Given the description of an element on the screen output the (x, y) to click on. 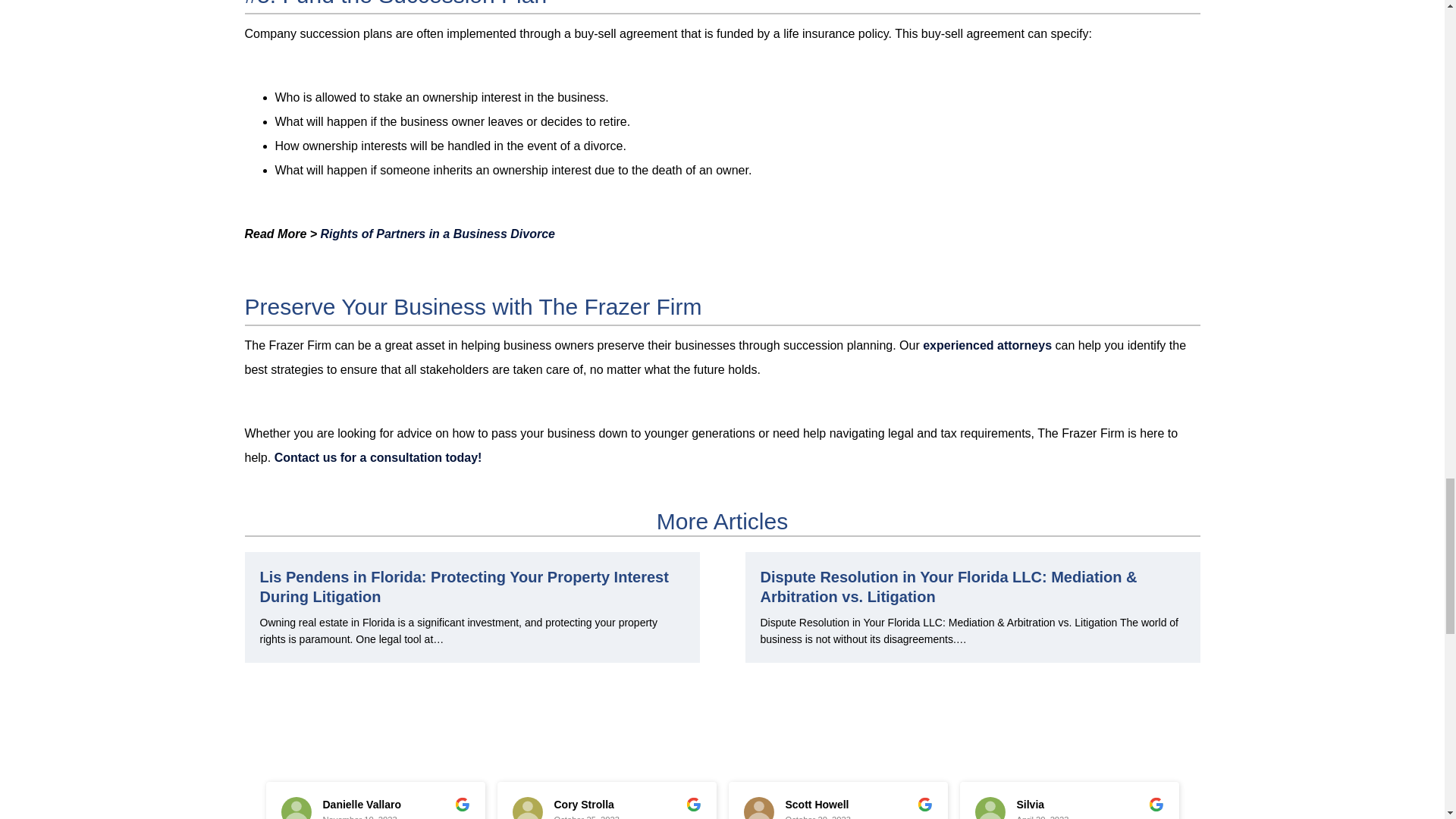
Rights of Partners in a Business Divorce (437, 233)
experienced attorneys (987, 345)
Contact us for a consultation today! (378, 457)
